Given the description of an element on the screen output the (x, y) to click on. 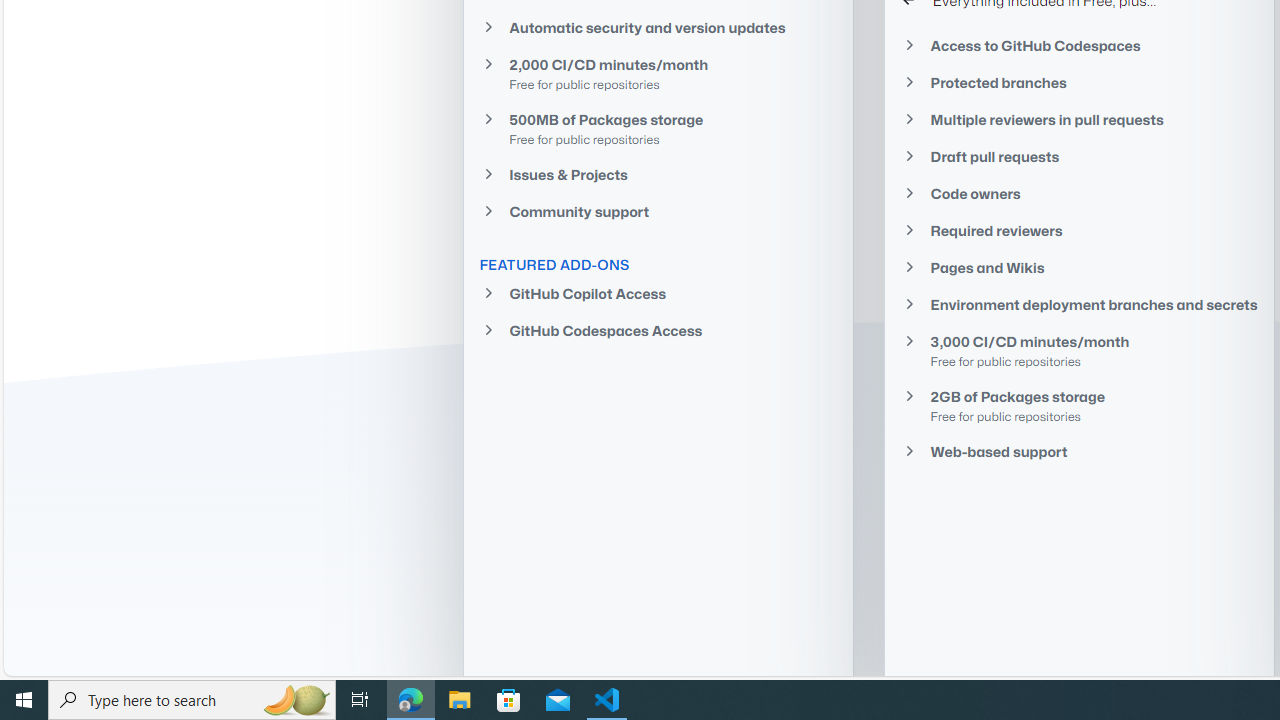
500MB of Packages storage Free for public repositories (657, 128)
Access to GitHub Codespaces (1079, 44)
Draft pull requests (1079, 155)
Issues & Projects (657, 173)
2,000 CI/CD minutes/monthFree for public repositories (657, 73)
3,000 CI/CD minutes/month Free for public repositories (1079, 350)
